Given the description of an element on the screen output the (x, y) to click on. 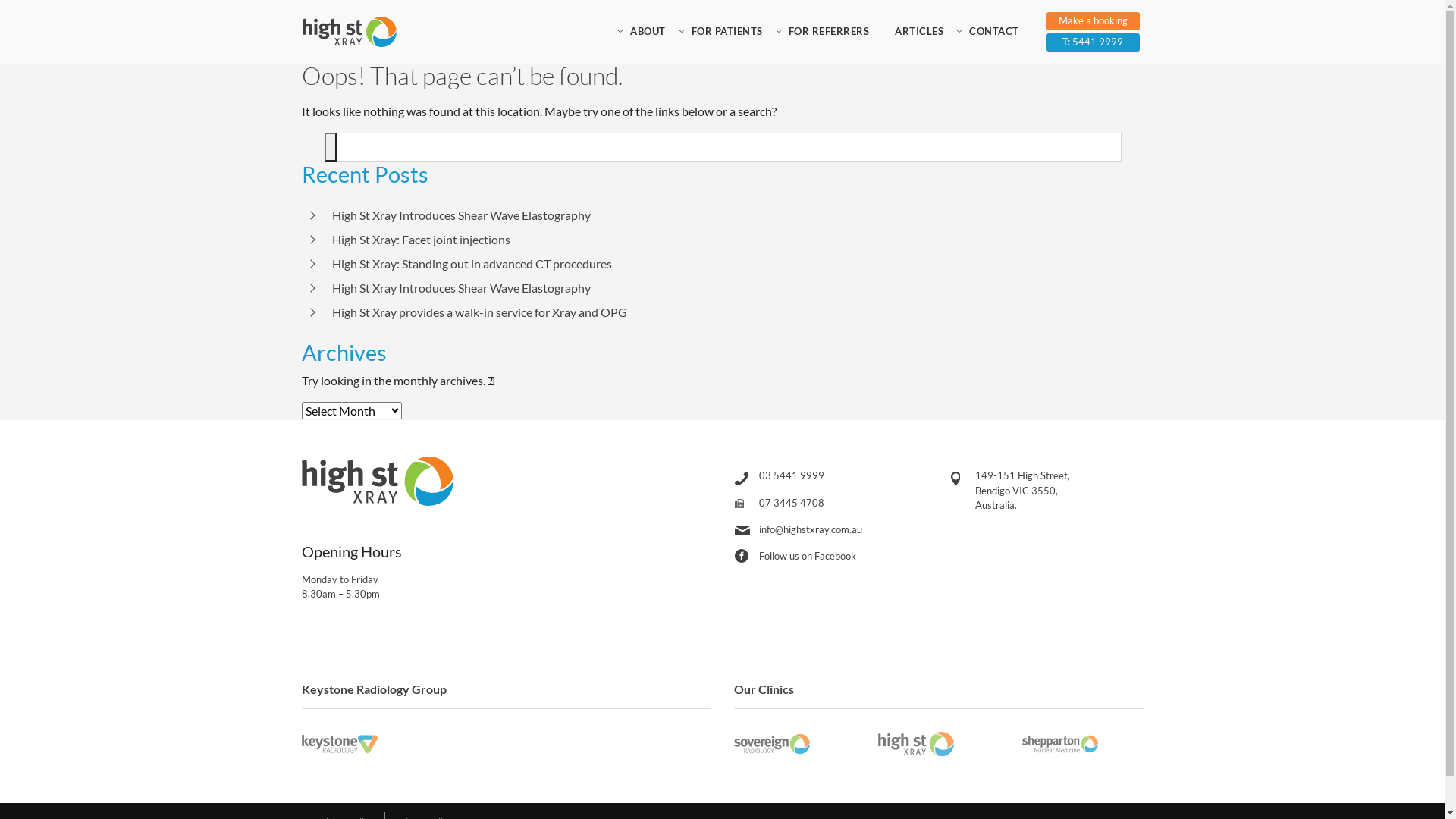
Asset 2 Element type: text (330, 146)
Follow us on Facebook Element type: text (806, 555)
High St Xray: Facet joint injections Element type: text (421, 239)
CONTACT Element type: text (994, 31)
07 3445 4708 Element type: text (790, 502)
High St Xray provides a walk-in service for Xray and OPG Element type: text (479, 311)
03 5441 9999 Element type: text (790, 475)
High St Xray Introduces Shear Wave Elastography Element type: text (461, 287)
FOR REFERRERS Element type: text (828, 31)
High St Xray Introduces Shear Wave Elastography Element type: text (461, 214)
ARTICLES Element type: text (918, 31)
FOR PATIENTS Element type: text (726, 31)
info@highstxray.com.au Element type: text (809, 529)
ABOUT Element type: text (647, 31)
T: 5441 9999 Element type: text (1092, 42)
High St Xray: Standing out in advanced CT procedures Element type: text (471, 263)
High Street X-Ray Element type: hover (348, 31)
Make a booking Element type: text (1092, 21)
